Given the description of an element on the screen output the (x, y) to click on. 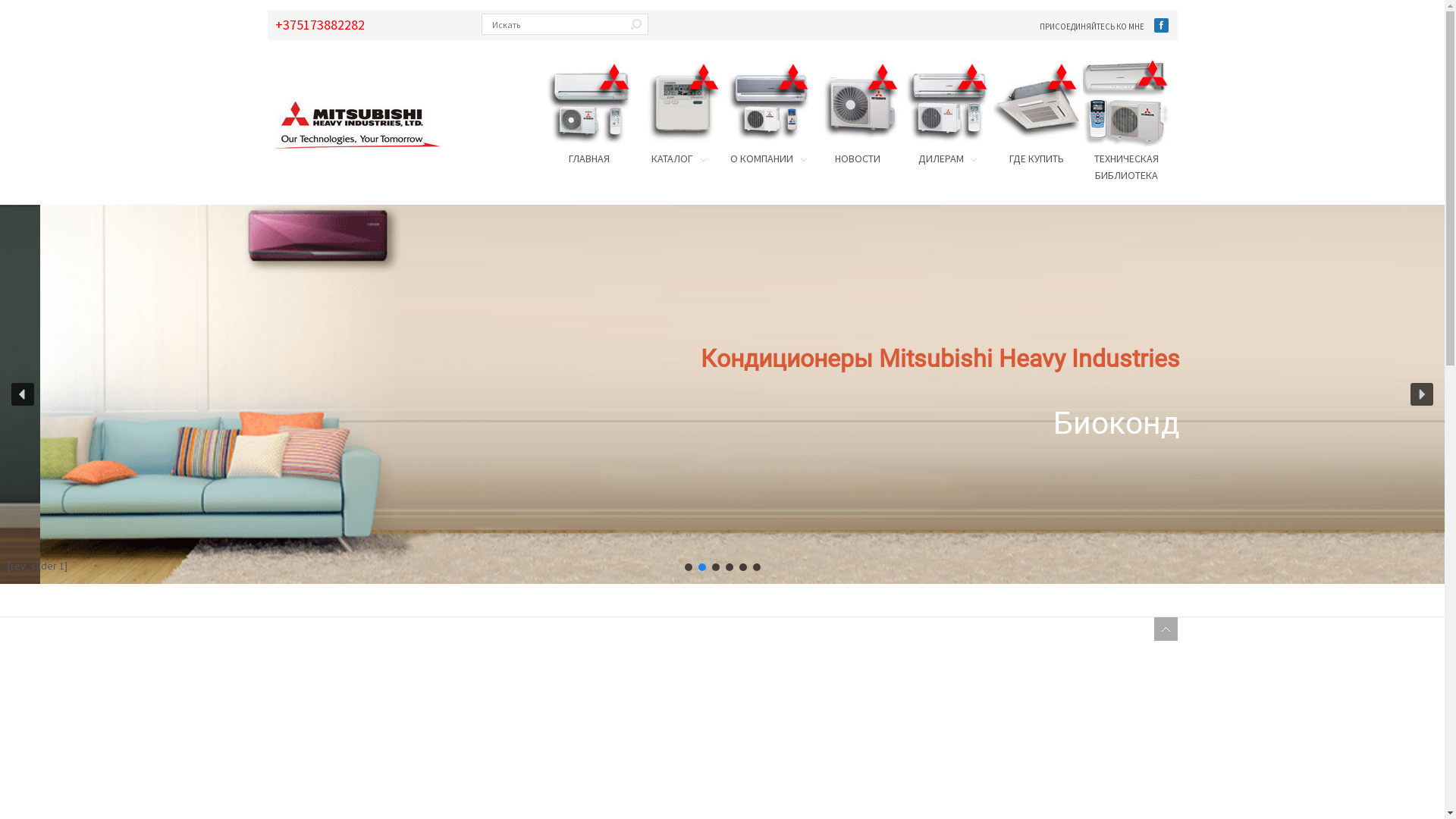
+375173882282 Element type: text (319, 24)
Facebook Element type: hover (1161, 25)
